Given the description of an element on the screen output the (x, y) to click on. 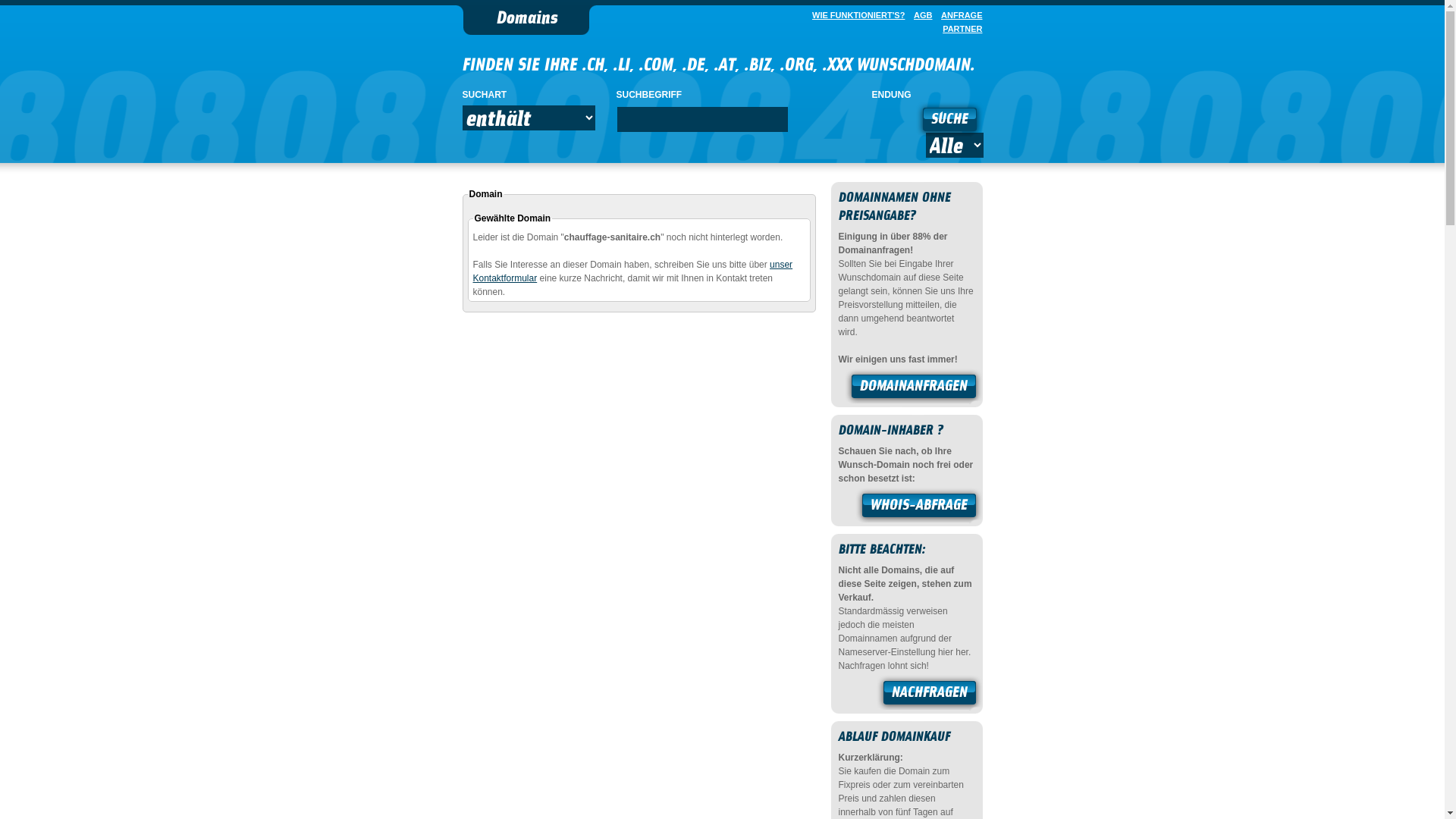
ANFRAGE Element type: text (958, 14)
PARTNER Element type: text (959, 28)
NACHFRAGEN Element type: text (929, 694)
SUCHE Element type: text (949, 121)
Domains Element type: text (526, 19)
AGB Element type: text (919, 14)
unser Kontaktformular Element type: text (633, 271)
WHOIS-ABFRAGE Element type: text (918, 507)
DOMAINANFRAGEN Element type: text (913, 387)
WIE FUNKTIONIERT'S? Element type: text (855, 14)
